Given the description of an element on the screen output the (x, y) to click on. 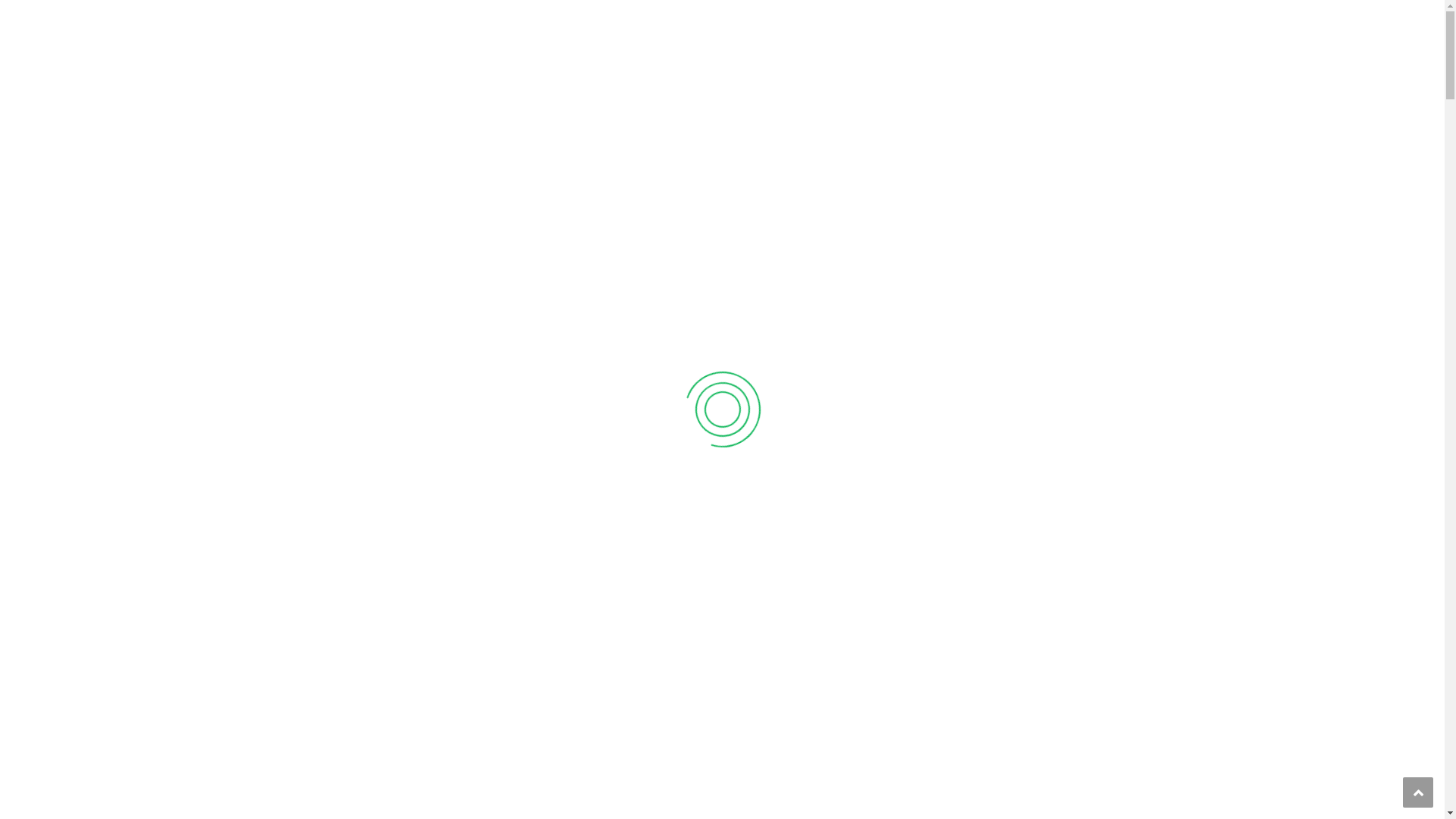
FINANCIAL REVIEW Element type: text (1029, 682)
+1 647-241-5126 Element type: text (359, 17)
CONTACT Element type: text (1130, 68)
BLOG Element type: text (1063, 68)
ACCOUNTANT Element type: text (409, 420)
CRA HELP Element type: text (702, 700)
TESTIMONIALS Element type: text (974, 68)
HOME Element type: text (694, 68)
AUDITING Element type: text (701, 420)
BOOKKEEPING Element type: text (1018, 401)
Search Element type: text (1144, 126)
ABOUT US Element type: text (770, 68)
billahassociate@gmail.com Element type: text (512, 17)
GET AN APPOINTMENT Element type: text (1068, 17)
SERVICES Element type: text (866, 68)
BUSINESS ACCOUNTING Element type: text (436, 718)
